Given the description of an element on the screen output the (x, y) to click on. 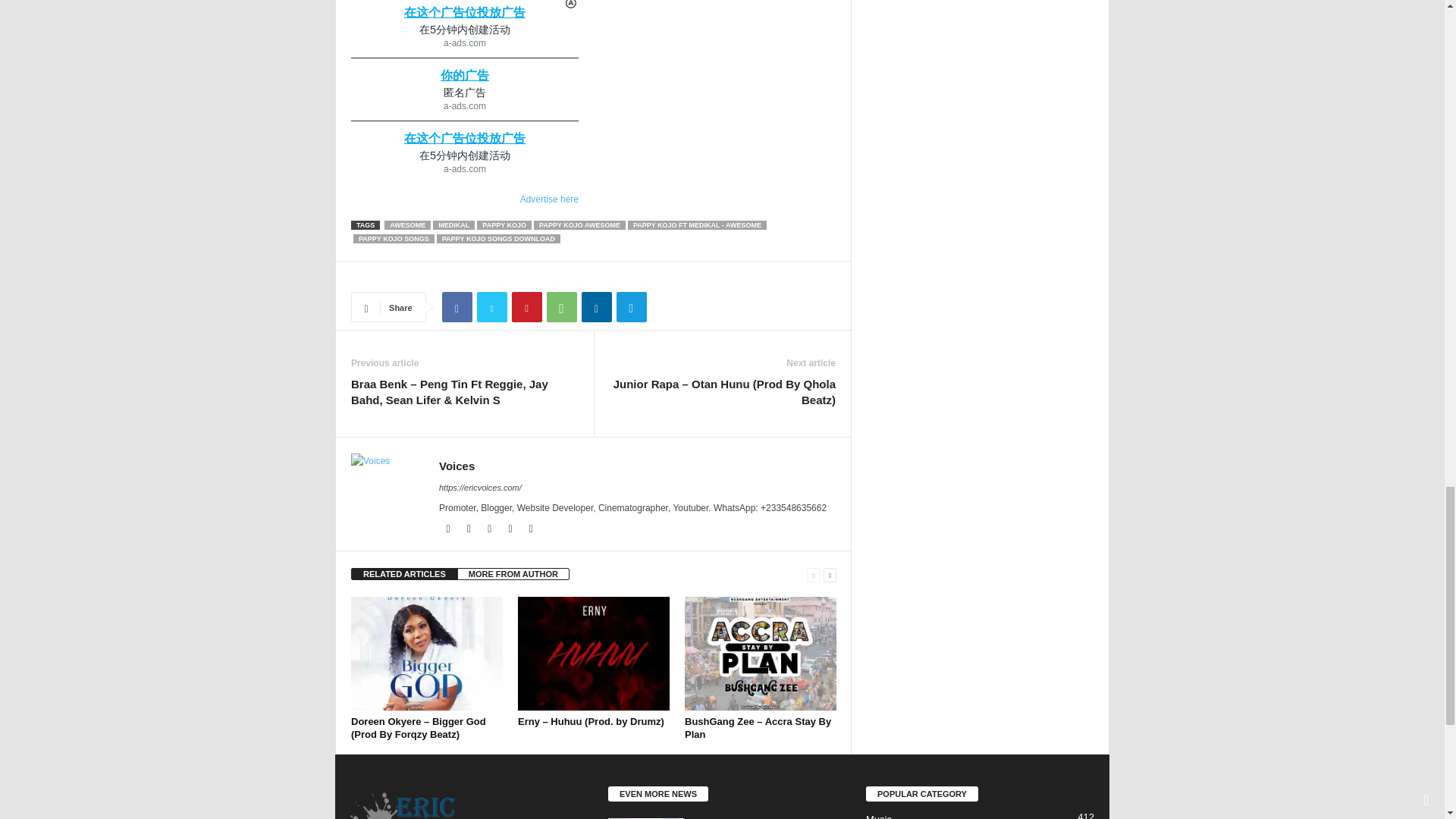
Facebook (456, 306)
AWESOME (407, 225)
PAPPY KOJO (504, 225)
Pinterest (526, 306)
bottomFacebookLike (390, 277)
WhatsApp (561, 306)
Twitter (491, 306)
MEDIKAL (453, 225)
Telegram (630, 306)
Linkedin (595, 306)
Advertise here (464, 199)
